Given the description of an element on the screen output the (x, y) to click on. 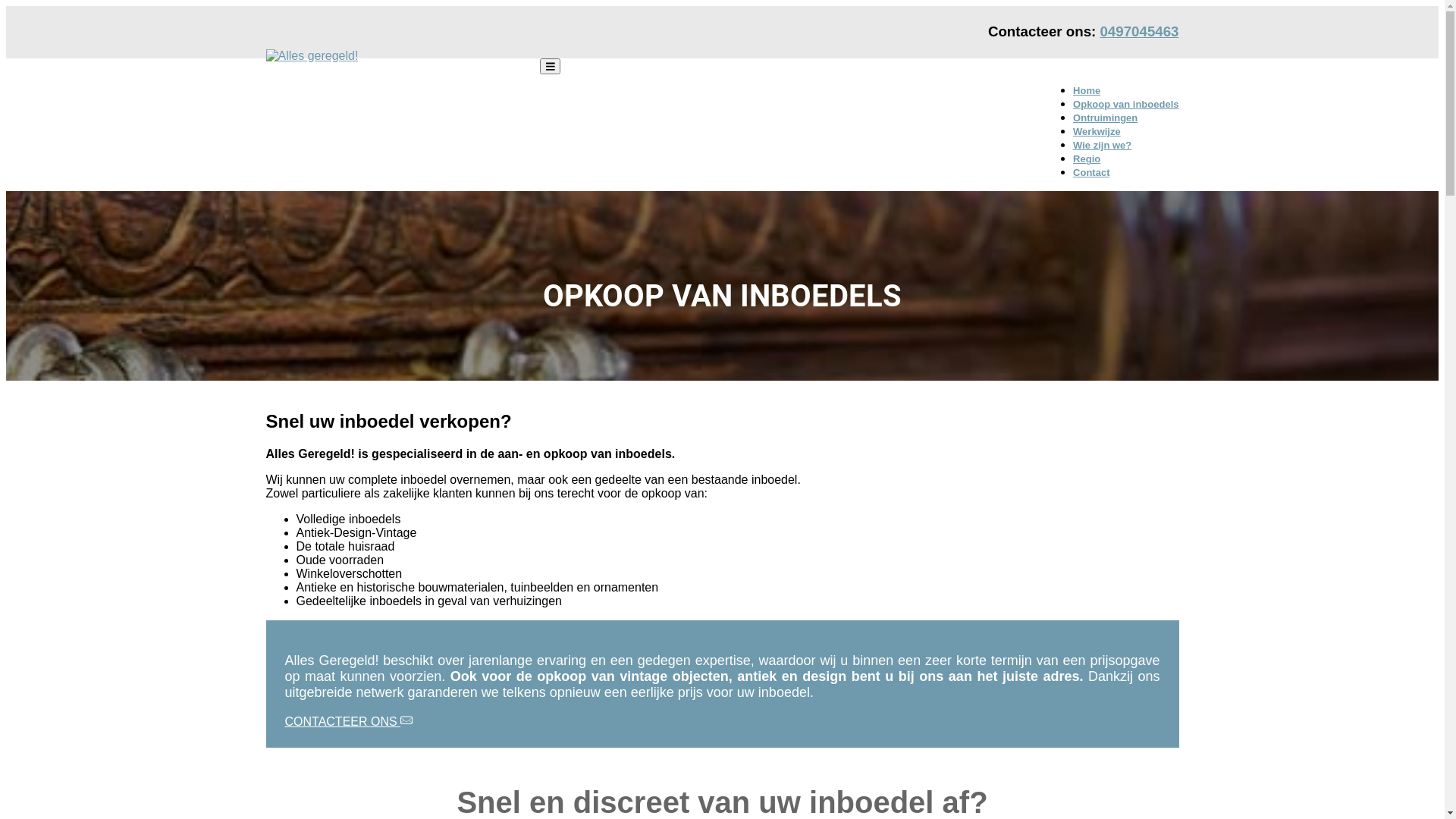
Werkwijze Element type: text (1096, 131)
Home Element type: text (1086, 90)
Contact Element type: text (1091, 172)
Alles geregeld! Element type: text (305, 81)
Wie zijn we? Element type: text (1102, 144)
Skip to content Element type: text (5, 5)
0497045463 Element type: text (1138, 31)
CONTACTEER ONS Element type: text (349, 721)
Ontruimingen Element type: text (1105, 117)
Opkoop van inboedels Element type: text (1125, 103)
Regio Element type: text (1086, 158)
